Given the description of an element on the screen output the (x, y) to click on. 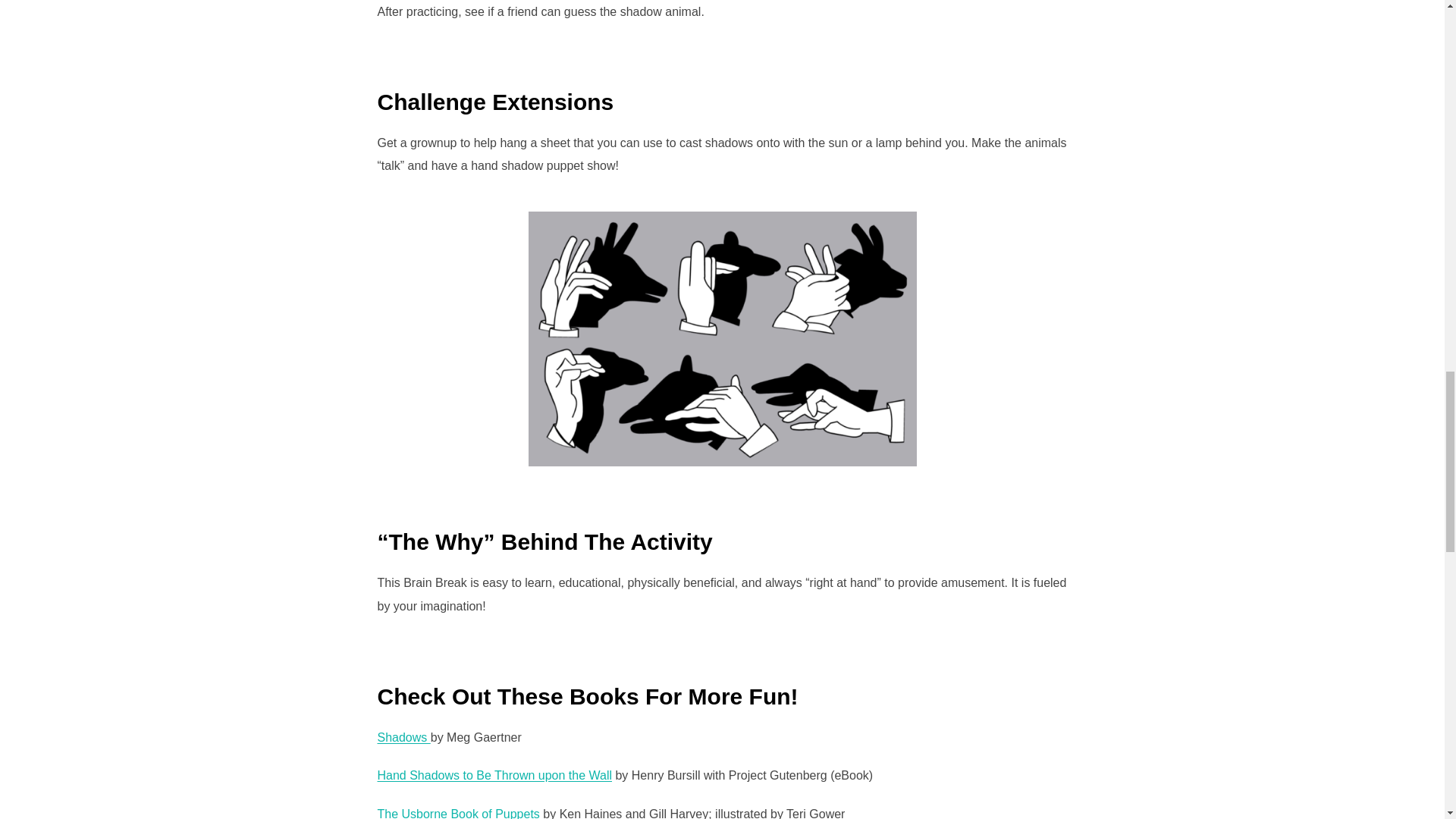
Hand Shadows to Be Thrown upon the Wall (494, 775)
The Usborne Book of Puppets (458, 813)
Shadows (403, 737)
